Given the description of an element on the screen output the (x, y) to click on. 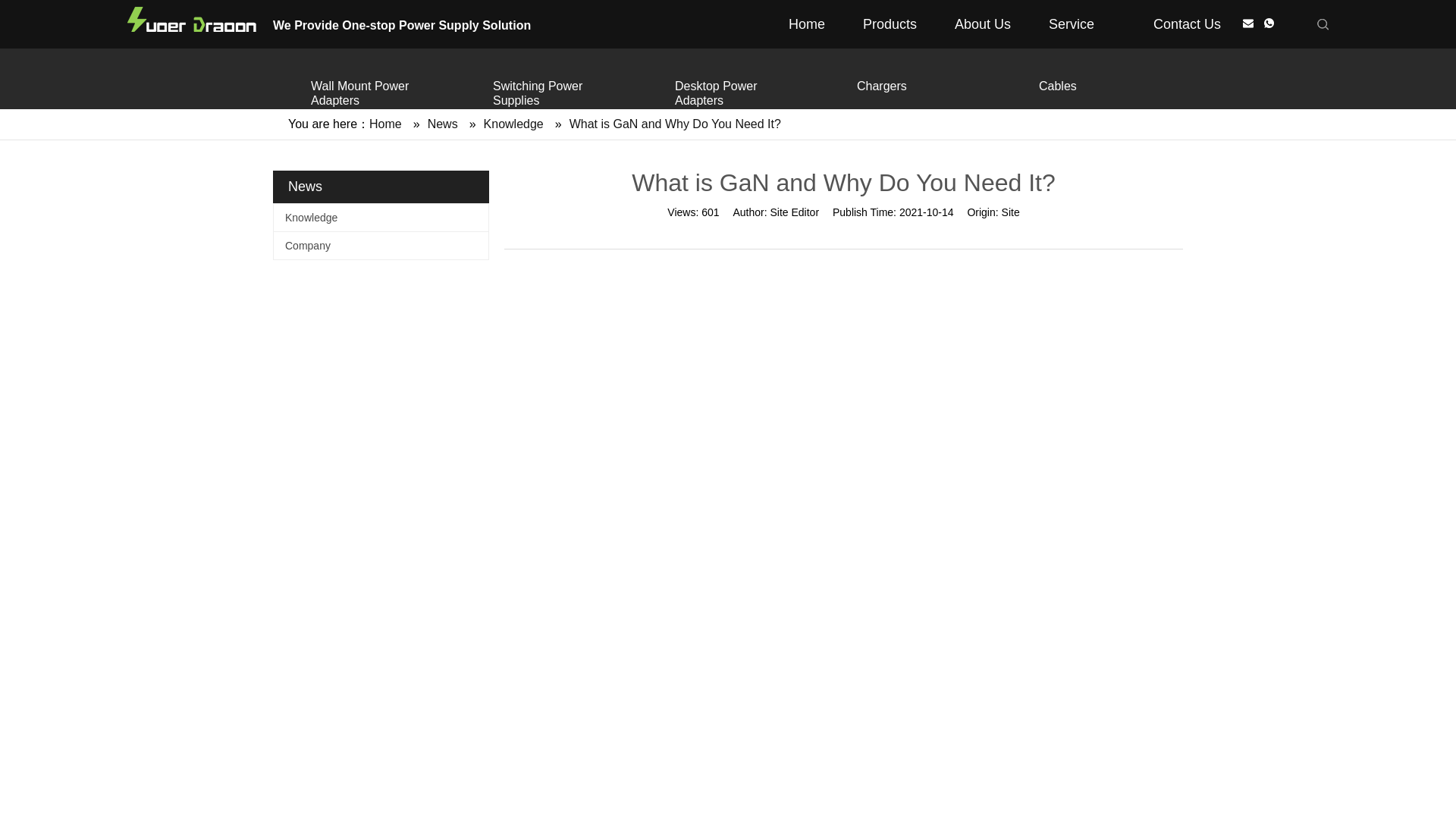
Desktop Power Adapters (741, 92)
Knowledge (513, 124)
Products (890, 24)
Company (380, 245)
Service (1081, 24)
Chargers (923, 85)
Knowledge (380, 216)
Cables (1105, 85)
Switching Power Supplies (559, 92)
Home (385, 124)
Contact Us (1187, 24)
What is GaN and Why Do You Need It? (674, 124)
Wall Mount Power Adapters (377, 92)
Home (807, 24)
About Us (982, 24)
